Given the description of an element on the screen output the (x, y) to click on. 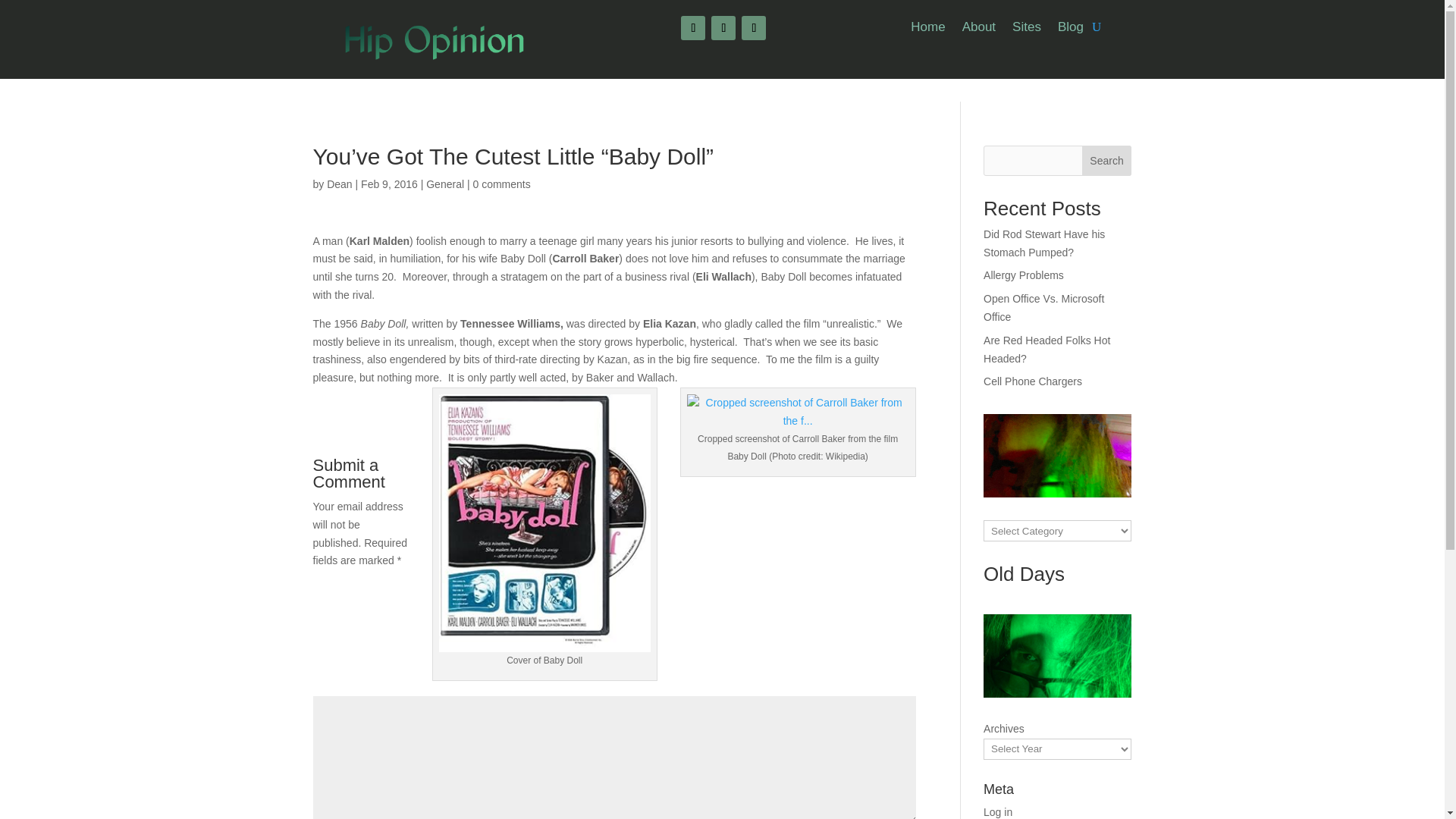
Cropped screenshot of Carroll Baker from the f... (797, 411)
Open Office Vs. Microsoft Office (1043, 307)
Follow on LinkedIn (753, 27)
Grelogo (433, 40)
Sites (1026, 30)
Home (927, 30)
Allergy Problems (1024, 275)
Log in (997, 811)
Search (1106, 160)
Follow on X (723, 27)
About (978, 30)
Blog (1070, 30)
Cell Phone Chargers (1032, 381)
Did Rod Stewart Have his Stomach Pumped? (1044, 243)
Are Red Headed Folks Hot Headed? (1046, 349)
